Given the description of an element on the screen output the (x, y) to click on. 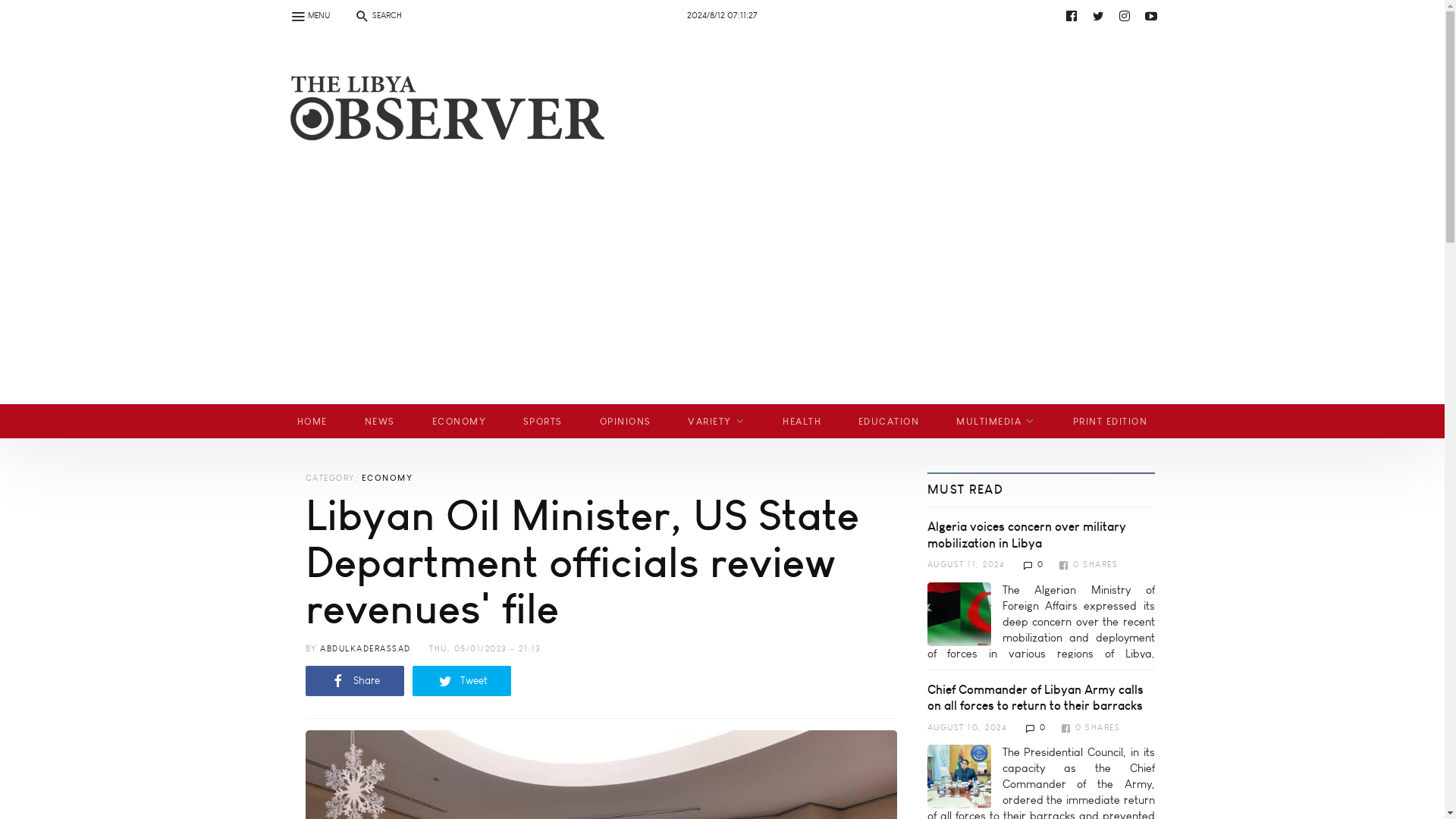
Facebook (1070, 14)
HOME (312, 421)
ECONOMY (458, 421)
SPORTS (541, 421)
SEARCH (377, 15)
youtube (736, 14)
HEALTH (802, 421)
OPINIONS (624, 421)
VARIETY (716, 421)
EDUCATION (888, 421)
